Given the description of an element on the screen output the (x, y) to click on. 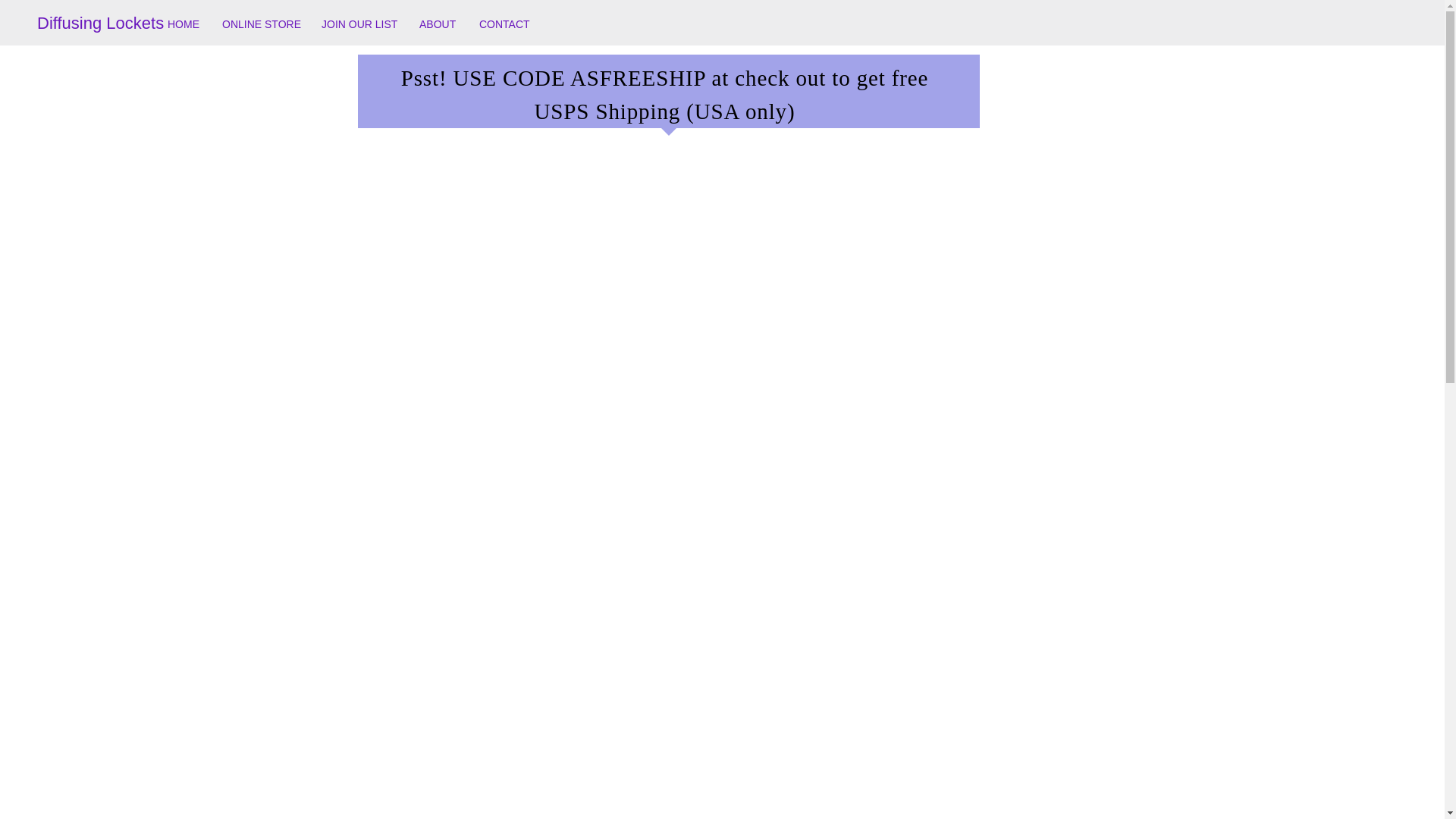
CONTACT (504, 24)
JOIN OUR LIST (358, 24)
HOME (183, 24)
ABOUT (437, 24)
Diffusing Lockets (104, 23)
ONLINE STORE (260, 24)
